Given the description of an element on the screen output the (x, y) to click on. 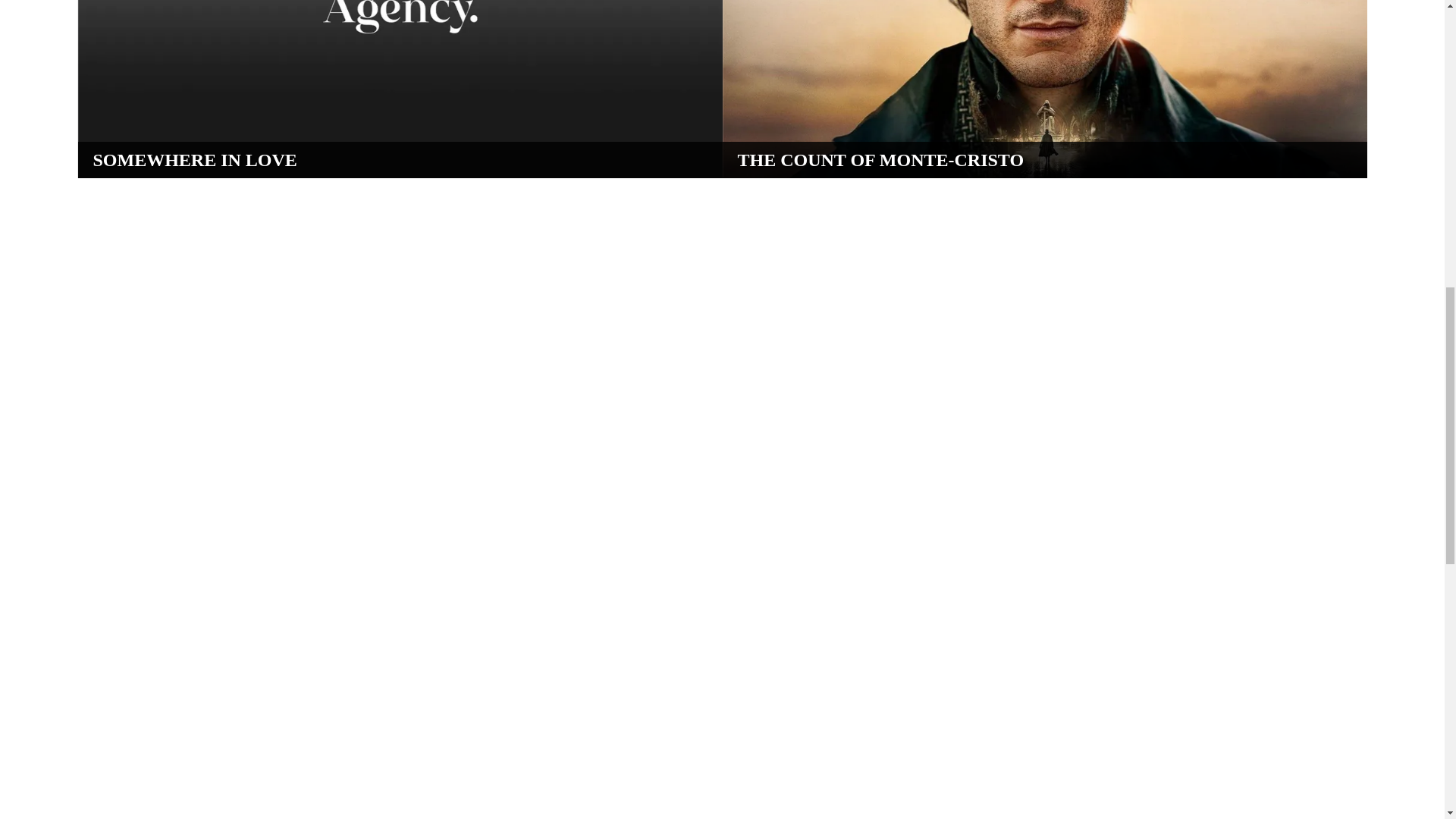
SEE MORE (163, 140)
SEE MORE (808, 140)
